Given the description of an element on the screen output the (x, y) to click on. 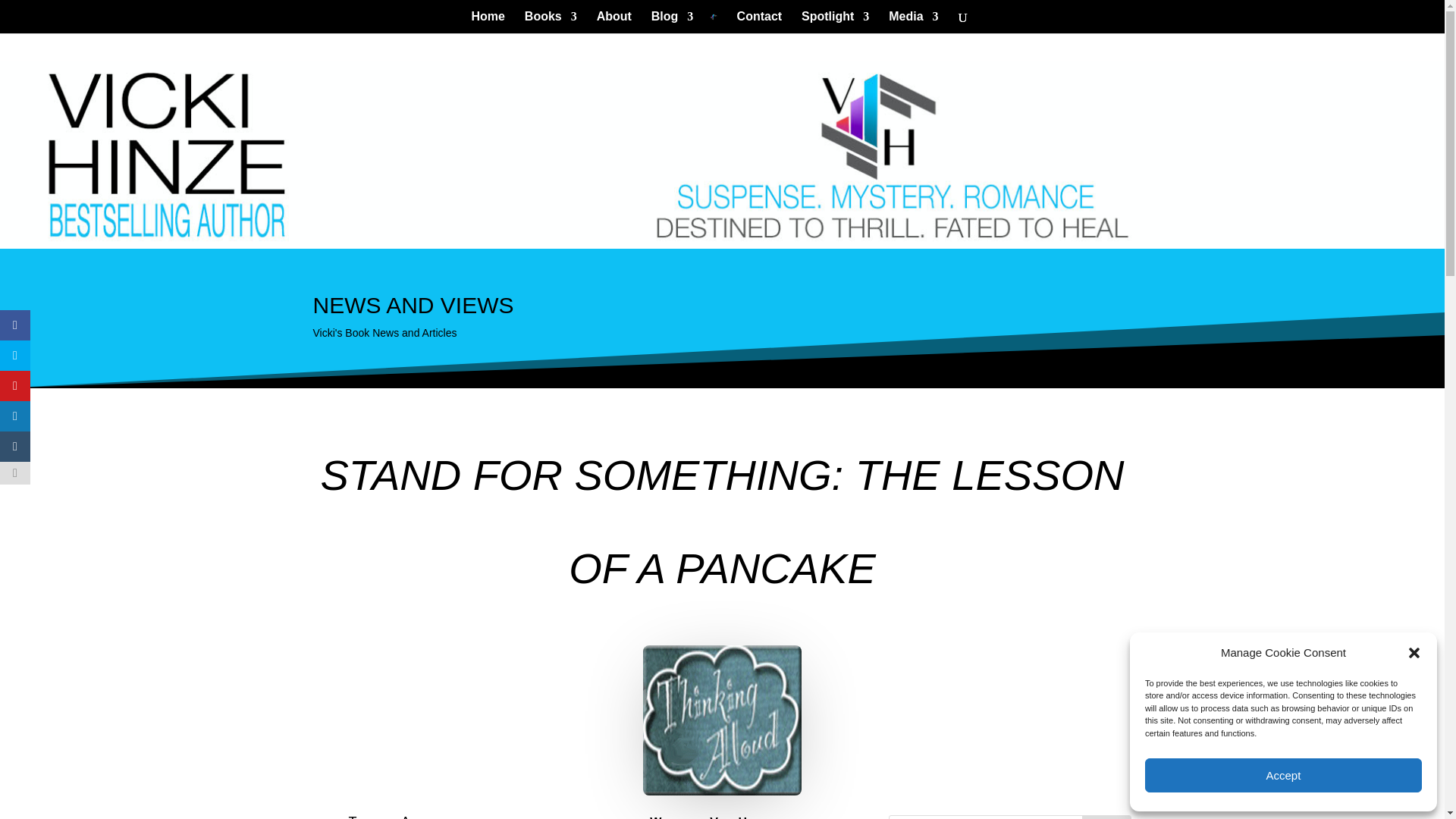
TAmini (722, 720)
Media (912, 22)
Search (1106, 817)
Home (488, 22)
Contact (759, 22)
Accept (1283, 775)
Books (550, 22)
About (613, 22)
Spotlight (835, 22)
Blog (672, 22)
